Given the description of an element on the screen output the (x, y) to click on. 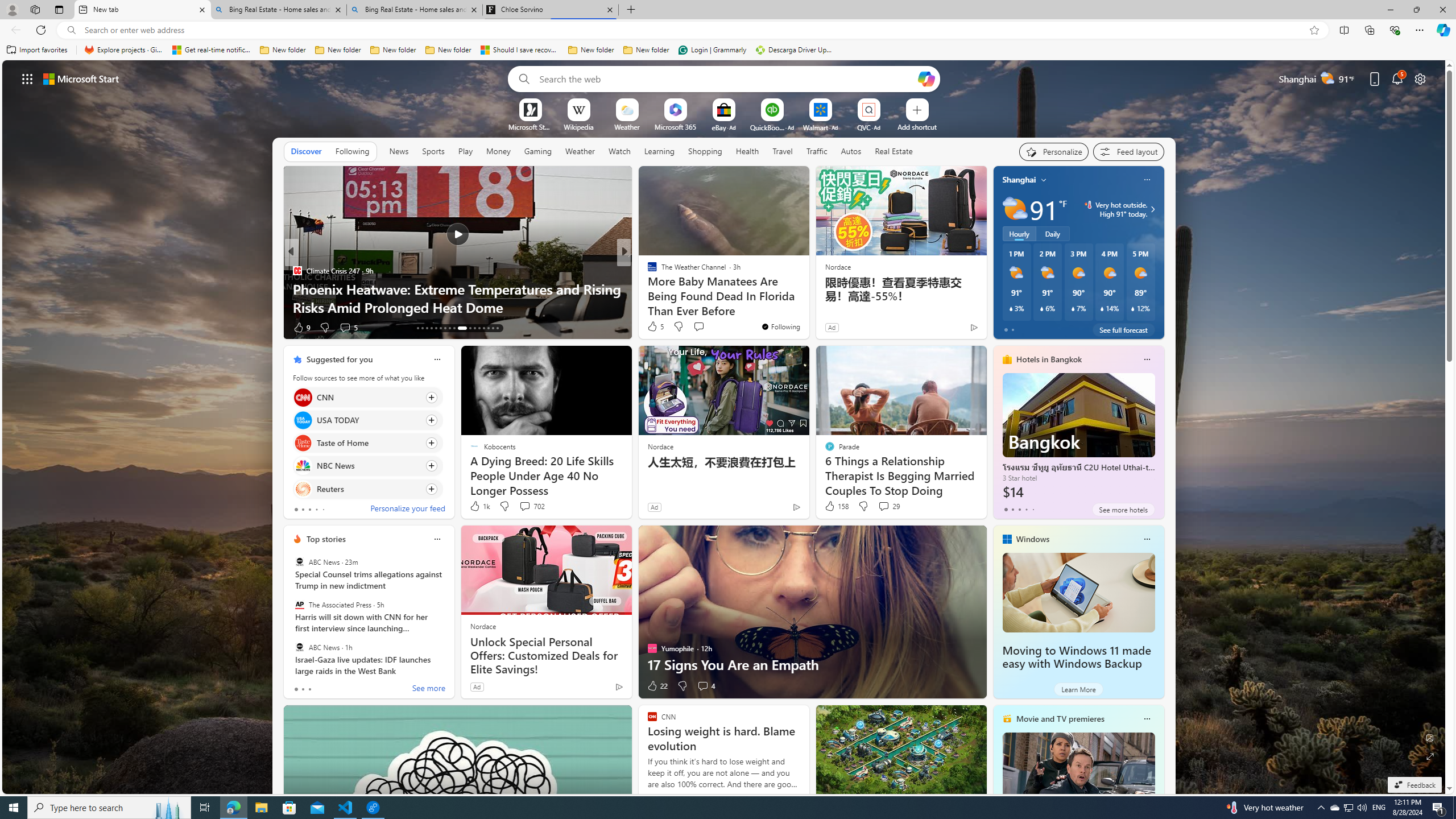
AutomationID: tab-18 (440, 328)
AutomationID: tab-22 (458, 328)
View comments 5 Comment (703, 327)
158 Like (835, 505)
CNN (302, 397)
AutomationID: backgroundImagePicture (723, 426)
Search icon (70, 29)
Microsoft start (81, 78)
151 Like (654, 327)
